Given the description of an element on the screen output the (x, y) to click on. 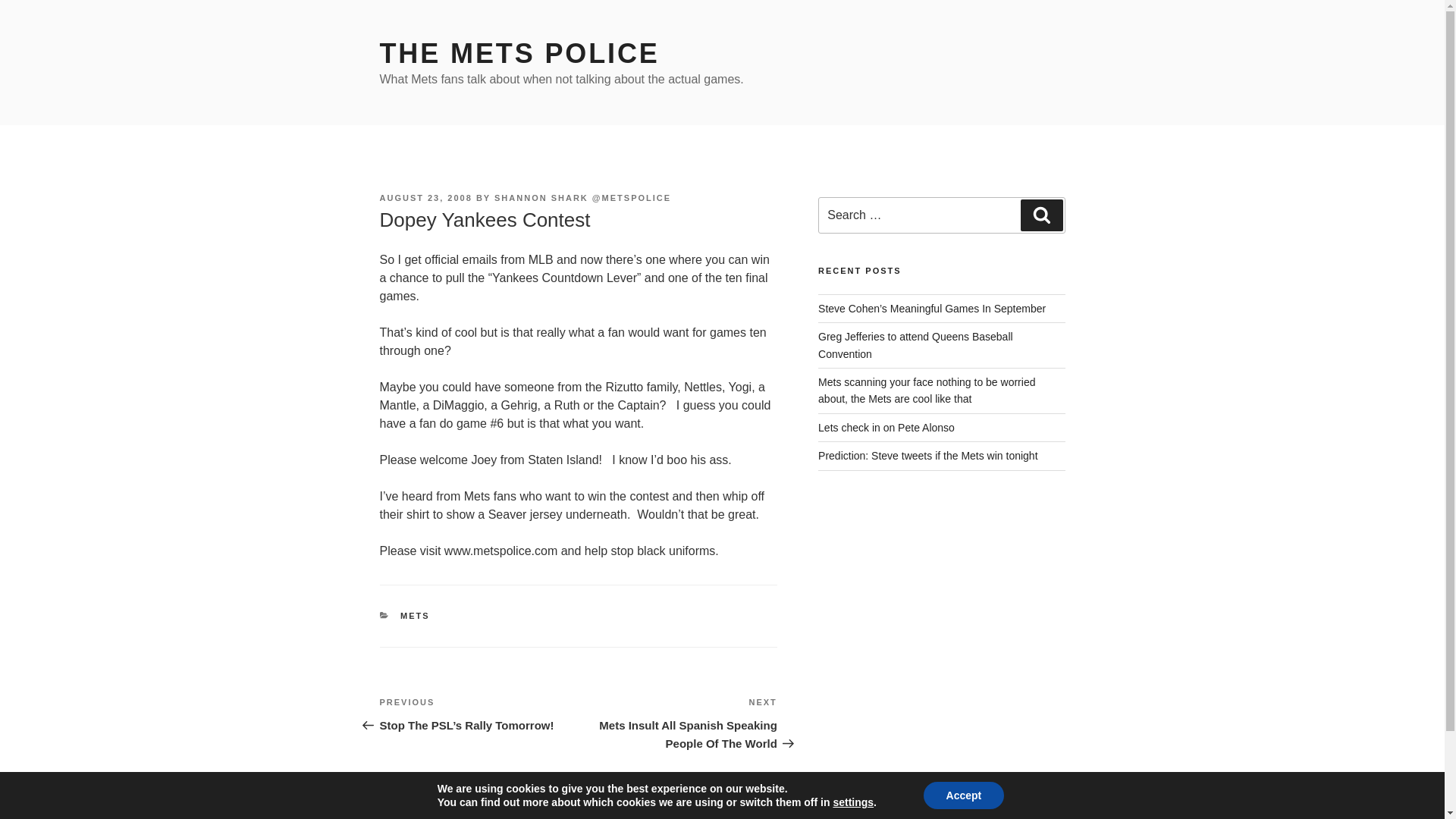
THE METS POLICE (518, 52)
Accept (963, 795)
Greg Jefferies to attend Queens Baseball Convention (915, 344)
Lets check in on Pete Alonso (886, 427)
Search (1041, 214)
METS (414, 614)
Prediction: Steve tweets if the Mets win tonight (927, 455)
AUGUST 23, 2008 (424, 197)
